Given the description of an element on the screen output the (x, y) to click on. 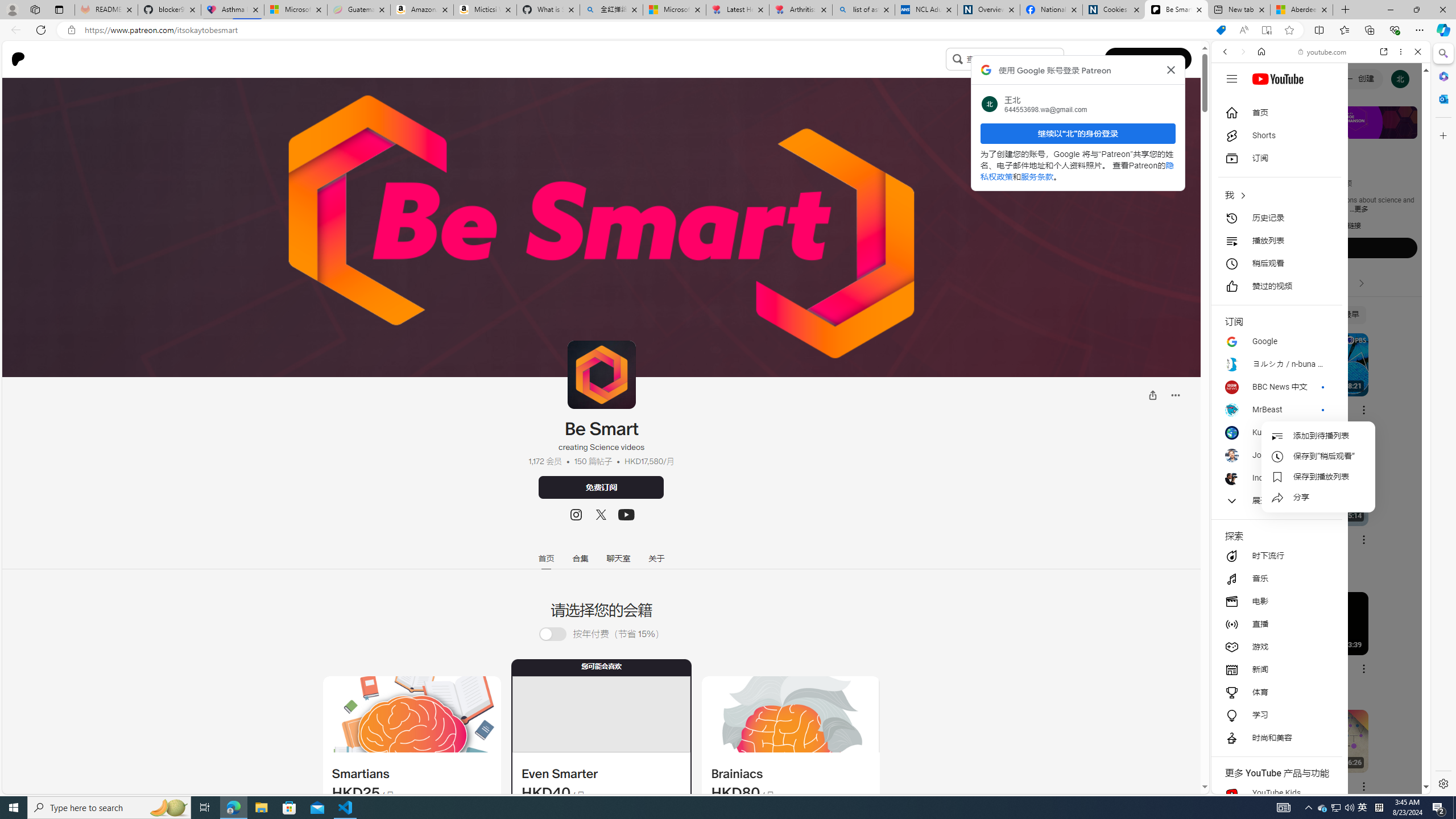
Close Customize pane (1442, 135)
App bar (728, 29)
Asthma Inhalers: Names and Types (232, 9)
Loading (552, 634)
#you (1320, 253)
Patreon logo (17, 59)
Arthritis: Ask Health Professionals (800, 9)
